Given the description of an element on the screen output the (x, y) to click on. 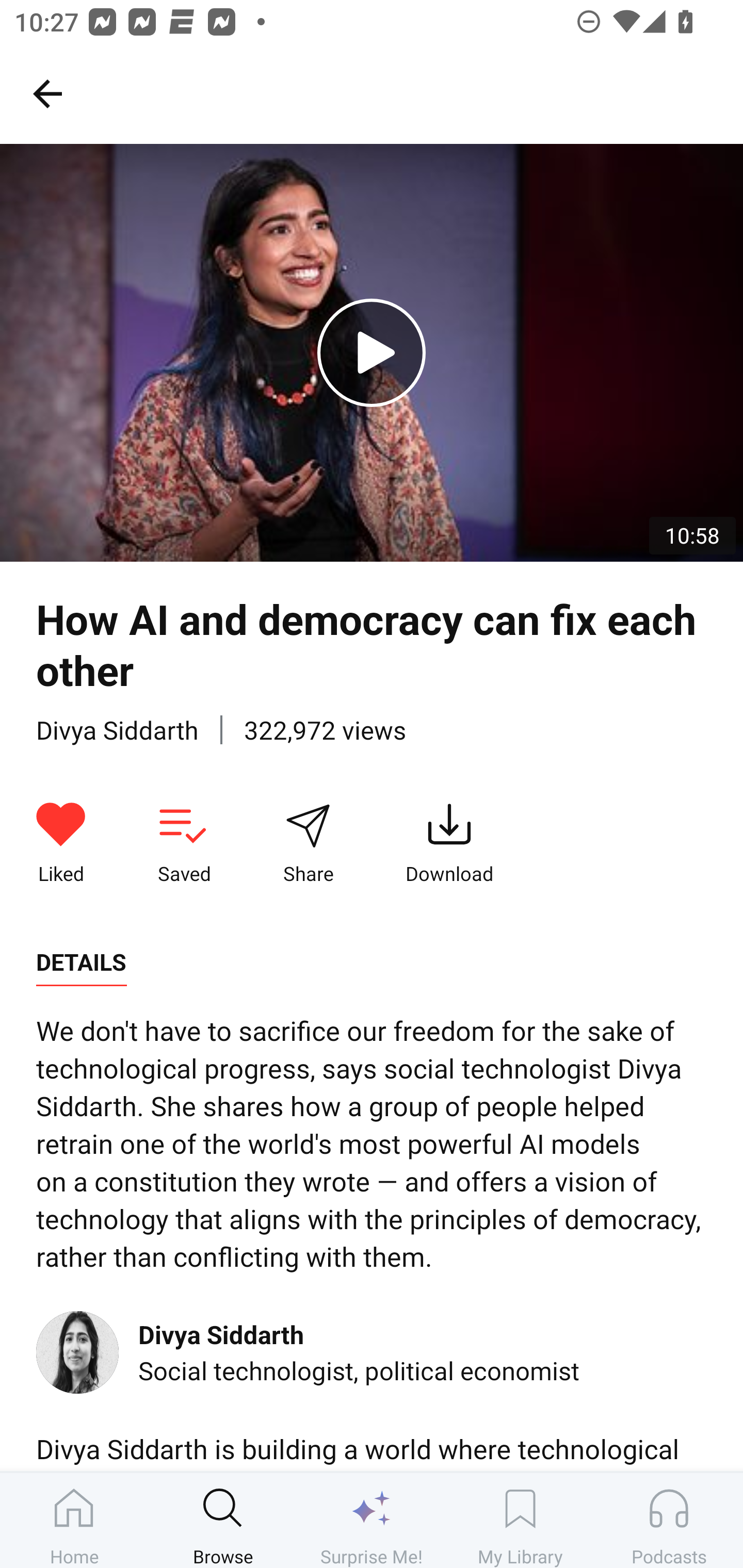
Search, back (47, 92)
Liked (60, 843)
Saved (183, 843)
Share (308, 843)
Download (449, 843)
DETAILS (80, 962)
Home (74, 1520)
Browse (222, 1520)
Surprise Me! (371, 1520)
My Library (519, 1520)
Podcasts (668, 1520)
